Given the description of an element on the screen output the (x, y) to click on. 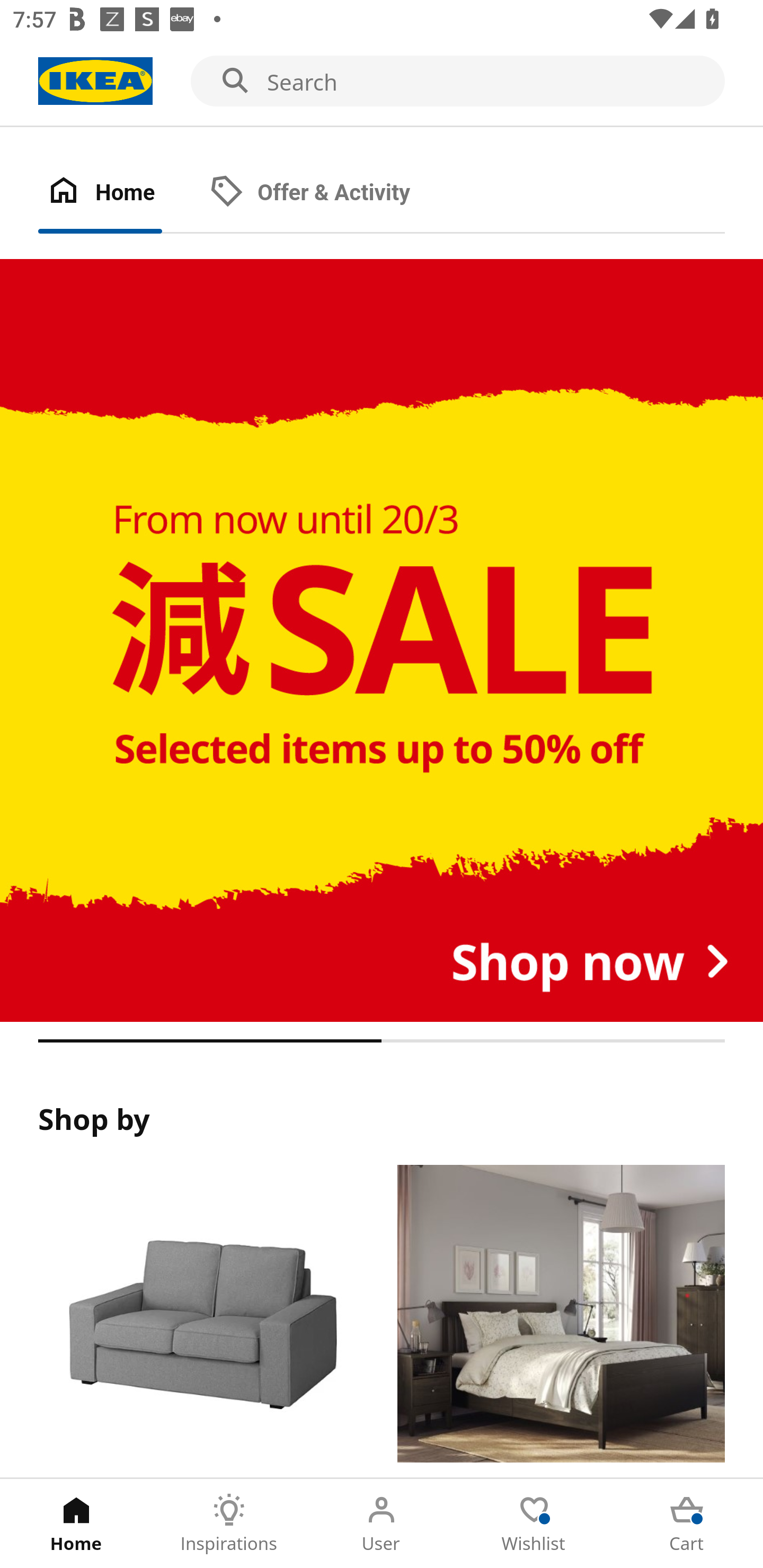
Search (381, 81)
Home
Tab 1 of 2 (118, 192)
Offer & Activity
Tab 2 of 2 (327, 192)
Products (201, 1321)
Rooms (560, 1321)
Home
Tab 1 of 5 (76, 1522)
Inspirations
Tab 2 of 5 (228, 1522)
User
Tab 3 of 5 (381, 1522)
Wishlist
Tab 4 of 5 (533, 1522)
Cart
Tab 5 of 5 (686, 1522)
